Given the description of an element on the screen output the (x, y) to click on. 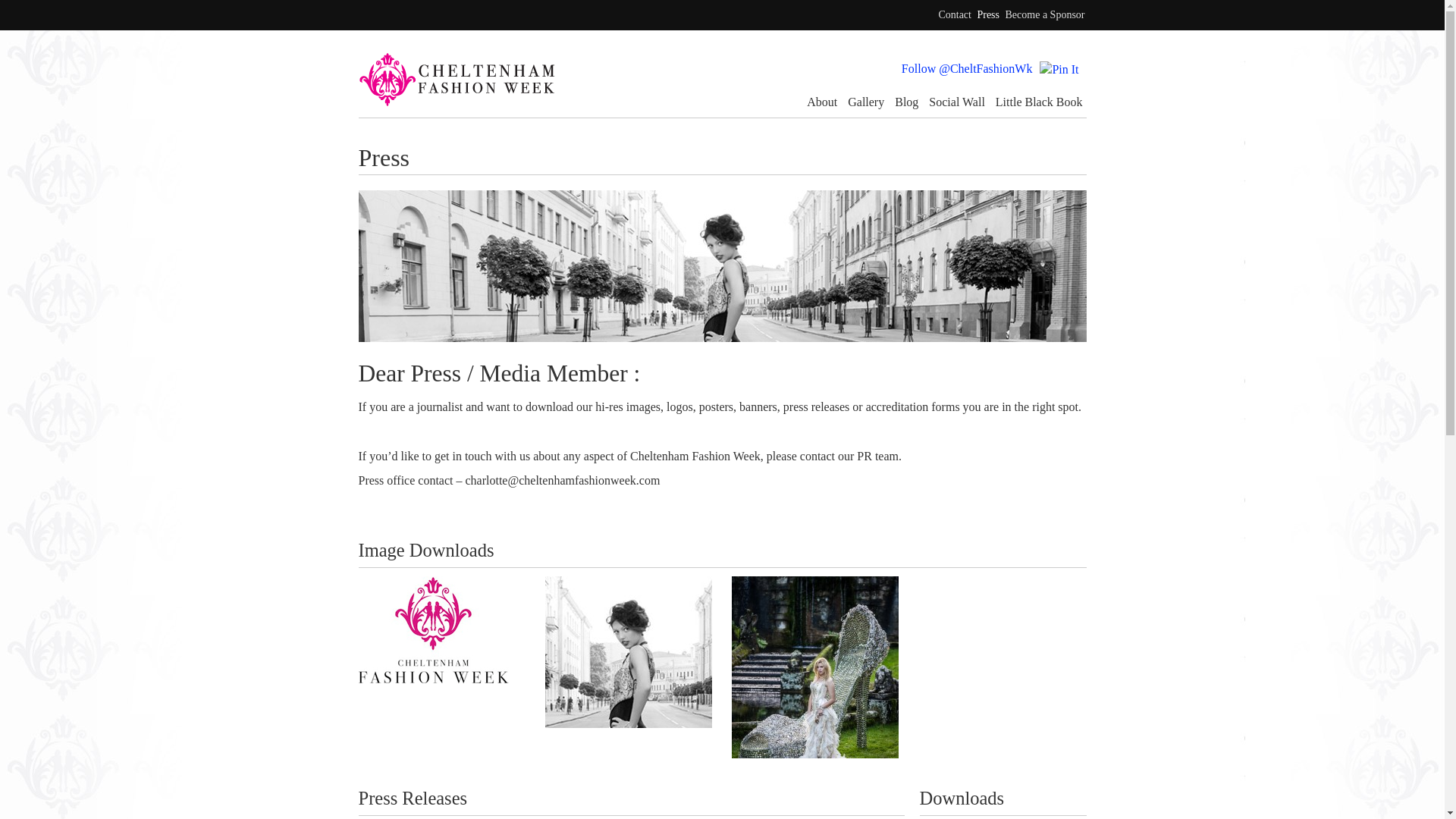
Pin It (1058, 69)
Become a Sponsor (1045, 14)
Gallery (865, 101)
Contact (954, 14)
Little Black Book (1039, 101)
About (821, 101)
Press (987, 14)
Social Wall (956, 101)
